Given the description of an element on the screen output the (x, y) to click on. 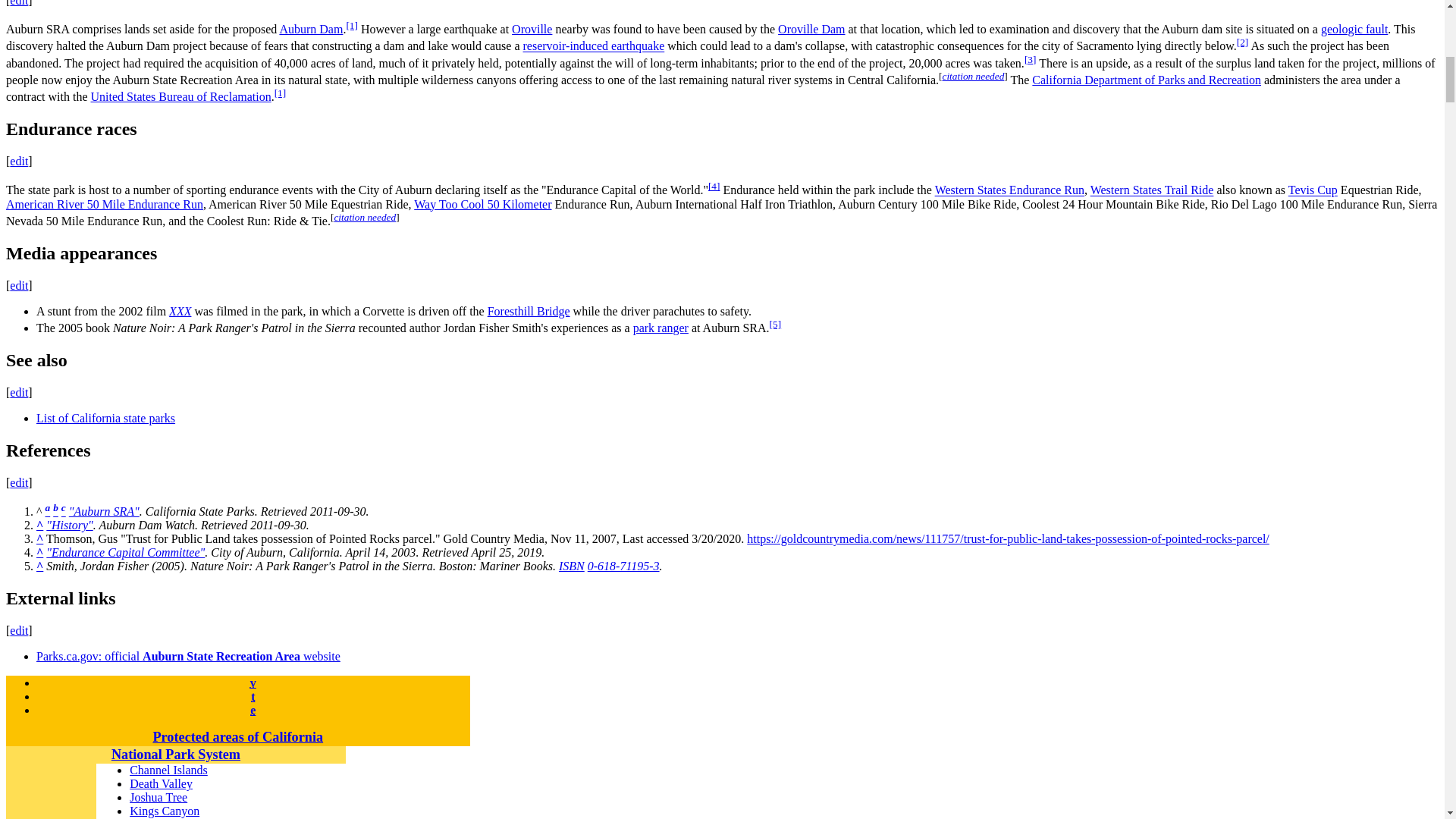
United States Bureau of Reclamation (180, 96)
Auburn Dam (310, 29)
geologic fault (1353, 29)
edit (18, 3)
reservoir-induced earthquake (593, 45)
Oroville Dam (810, 29)
citation needed (973, 75)
California Department of Parks and Recreation (1146, 79)
Oroville (531, 29)
